Given the description of an element on the screen output the (x, y) to click on. 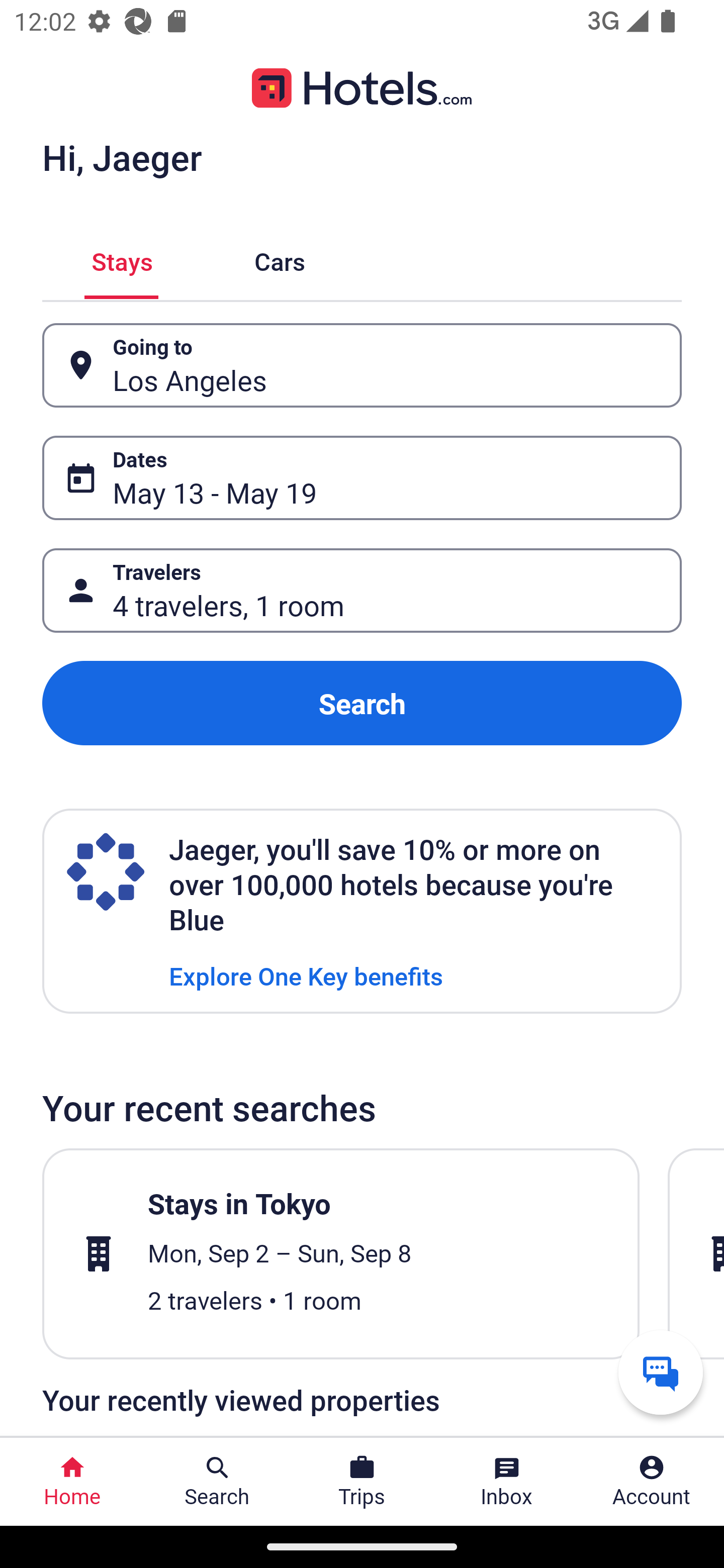
Hi, Jaeger (121, 156)
Cars (279, 259)
Going to Button Los Angeles (361, 365)
Dates Button May 13 - May 19 (361, 477)
Travelers Button 4 travelers, 1 room (361, 590)
Search (361, 702)
Get help from a virtual agent (660, 1371)
Search Search Button (216, 1481)
Trips Trips Button (361, 1481)
Inbox Inbox Button (506, 1481)
Account Profile. Button (651, 1481)
